Given the description of an element on the screen output the (x, y) to click on. 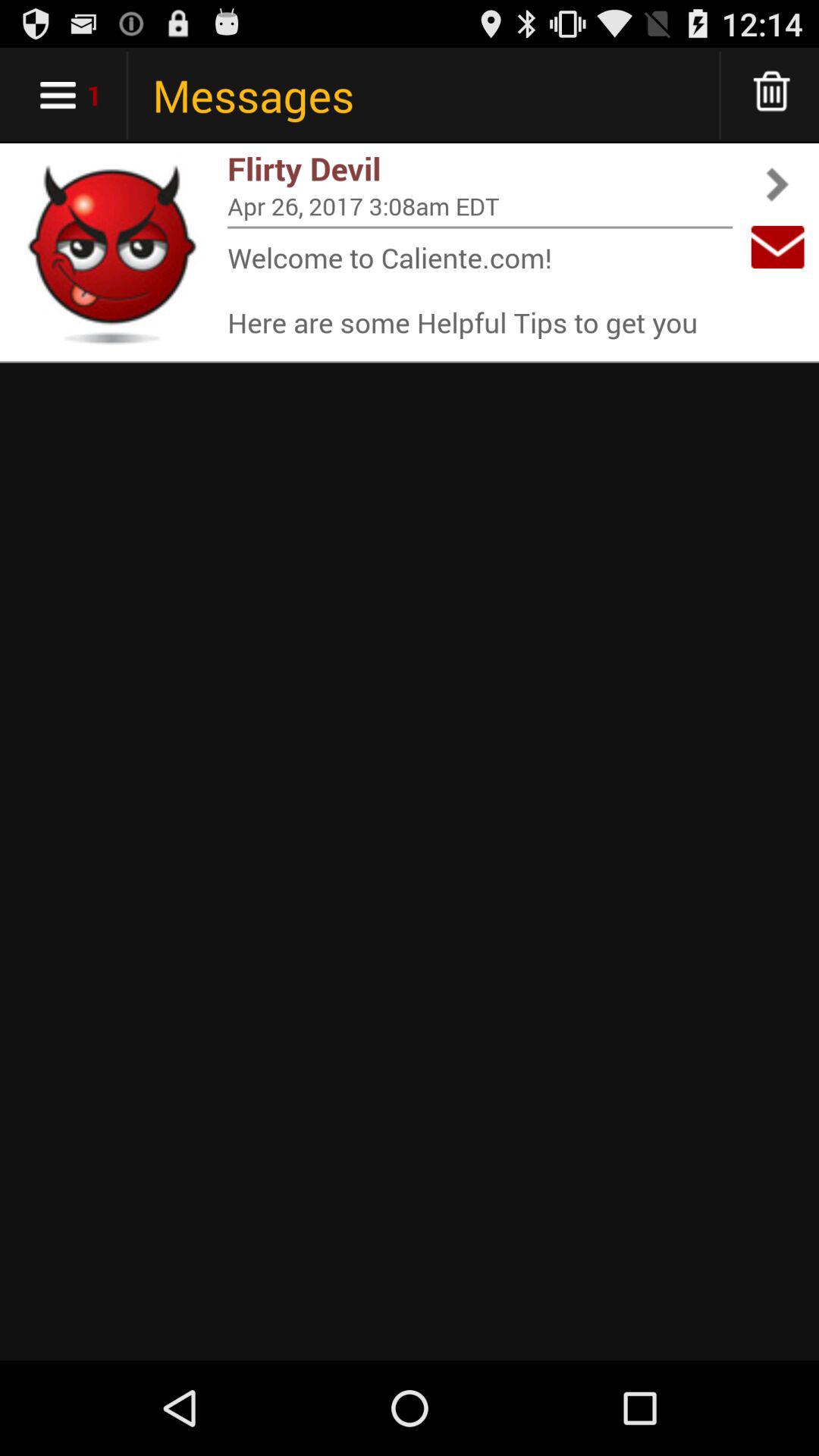
turn off app next to apr 26 2017 app (777, 246)
